Given the description of an element on the screen output the (x, y) to click on. 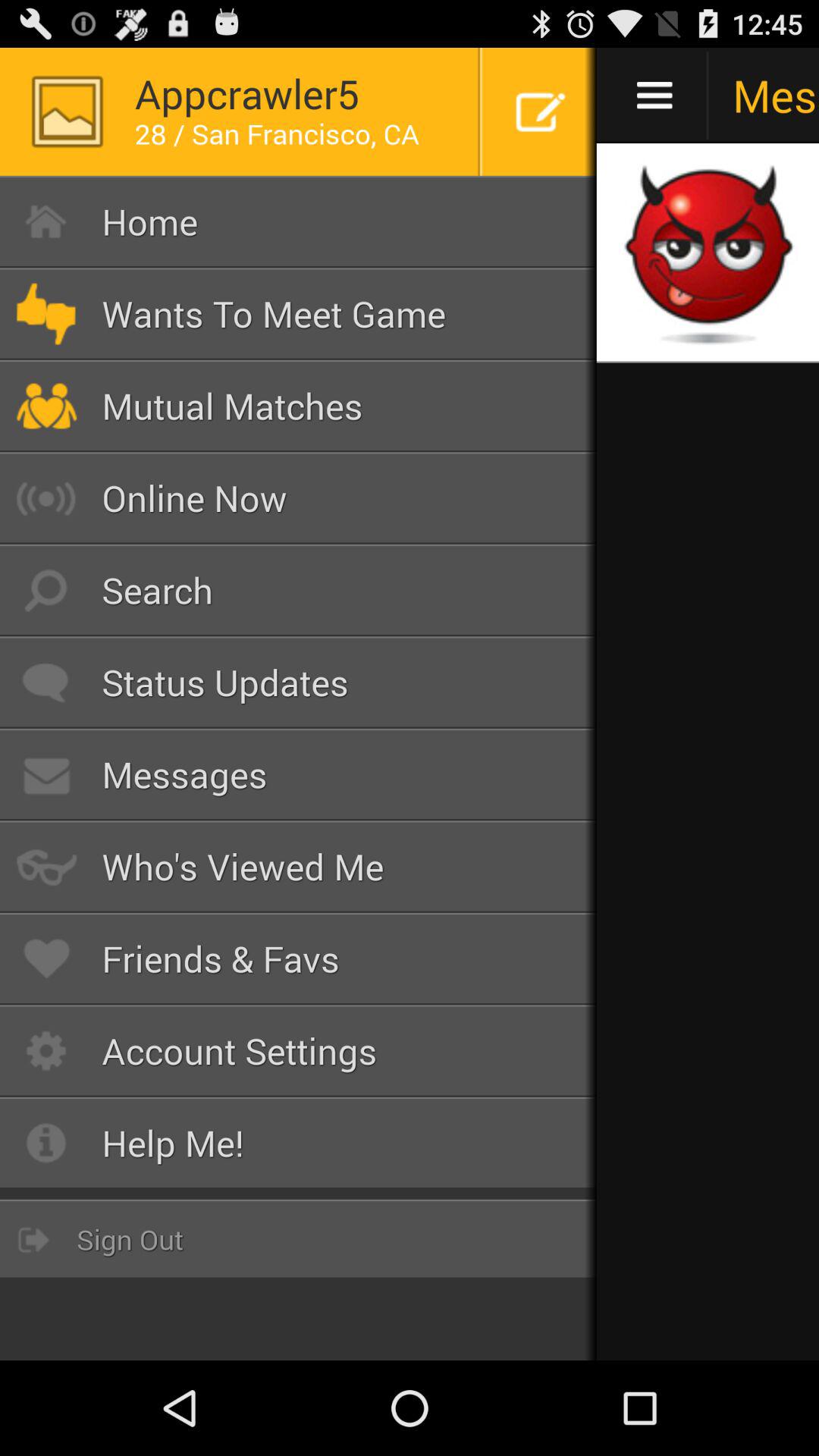
swipe until search button (298, 590)
